Given the description of an element on the screen output the (x, y) to click on. 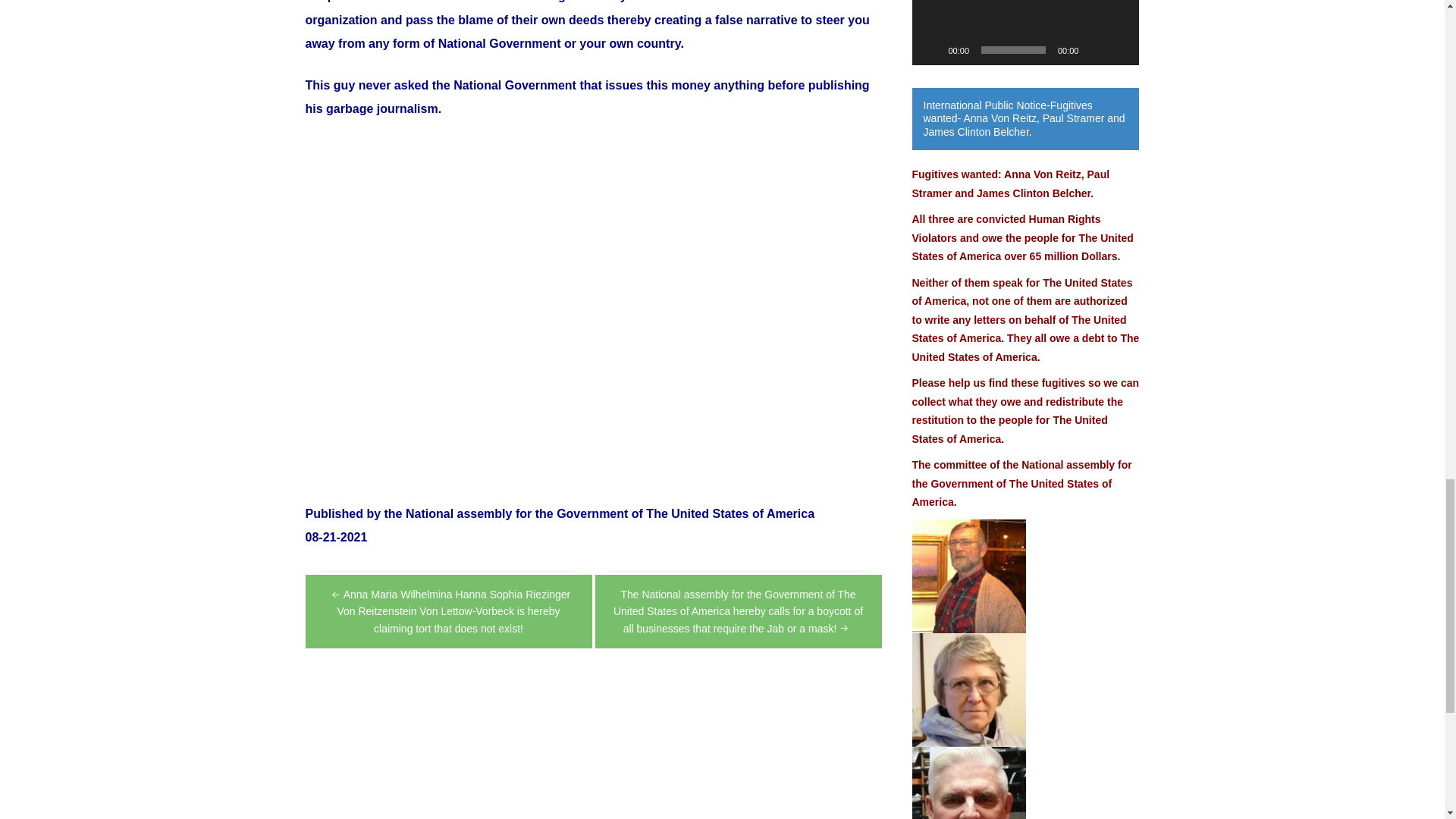
Fullscreen (1119, 49)
Mute (1094, 49)
Play (931, 49)
